Given the description of an element on the screen output the (x, y) to click on. 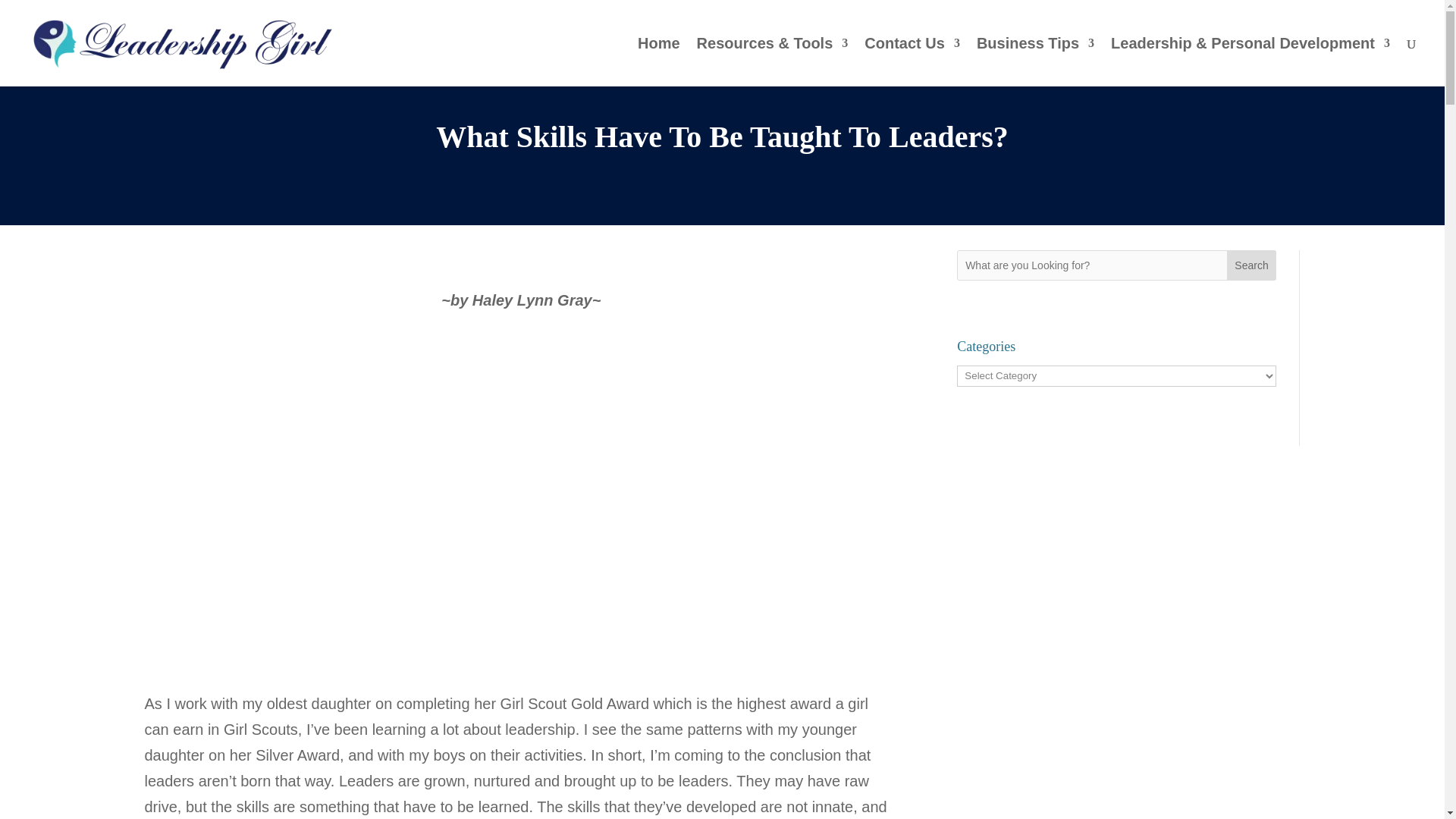
Contact Us (911, 61)
Business Tips (1035, 61)
Search (1251, 265)
Business Tips (1035, 61)
Home (658, 61)
Contact Us (911, 61)
Home (658, 61)
